Given the description of an element on the screen output the (x, y) to click on. 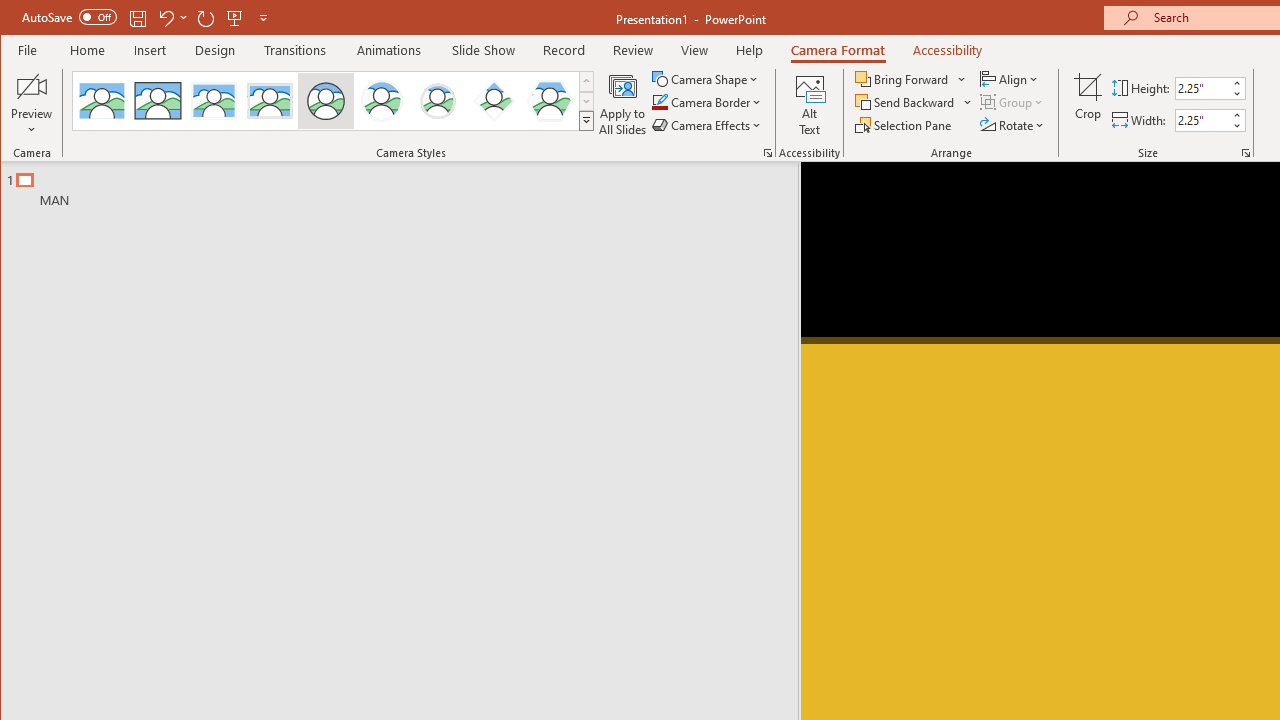
Camera Border (706, 101)
Enable Camera Preview (31, 86)
Crop (1087, 104)
Camera Styles (585, 120)
Bring Forward (911, 78)
Cameo Height (1201, 88)
Center Shadow Circle (381, 100)
Send Backward (914, 101)
Camera Border Blue, Accent 1 (659, 101)
